Given the description of an element on the screen output the (x, y) to click on. 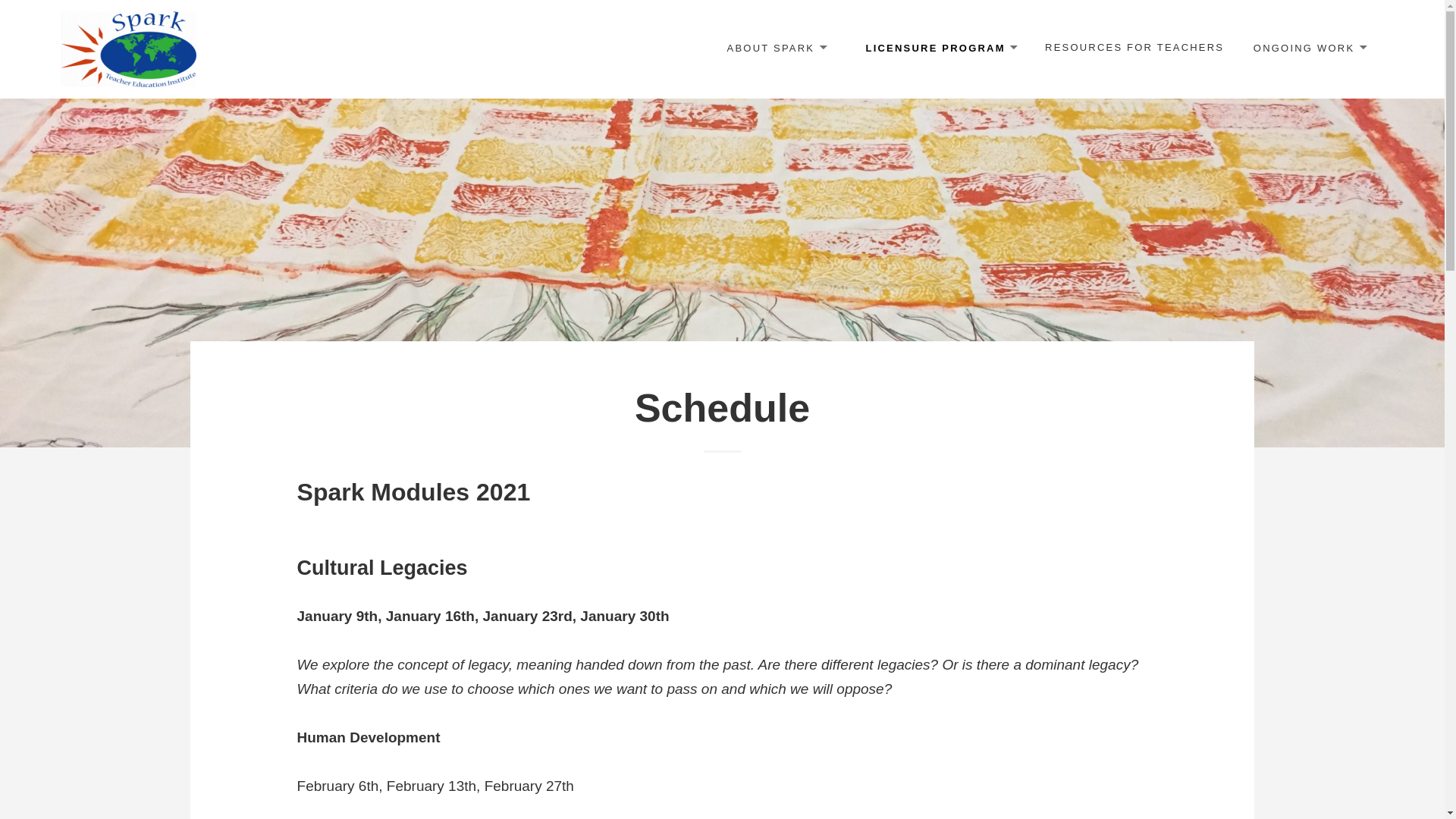
LICENSURE PROGRAM (939, 48)
RESOURCES FOR TEACHERS (1134, 48)
ABOUT SPARK (775, 48)
ONGOING WORK (1308, 48)
